Given the description of an element on the screen output the (x, y) to click on. 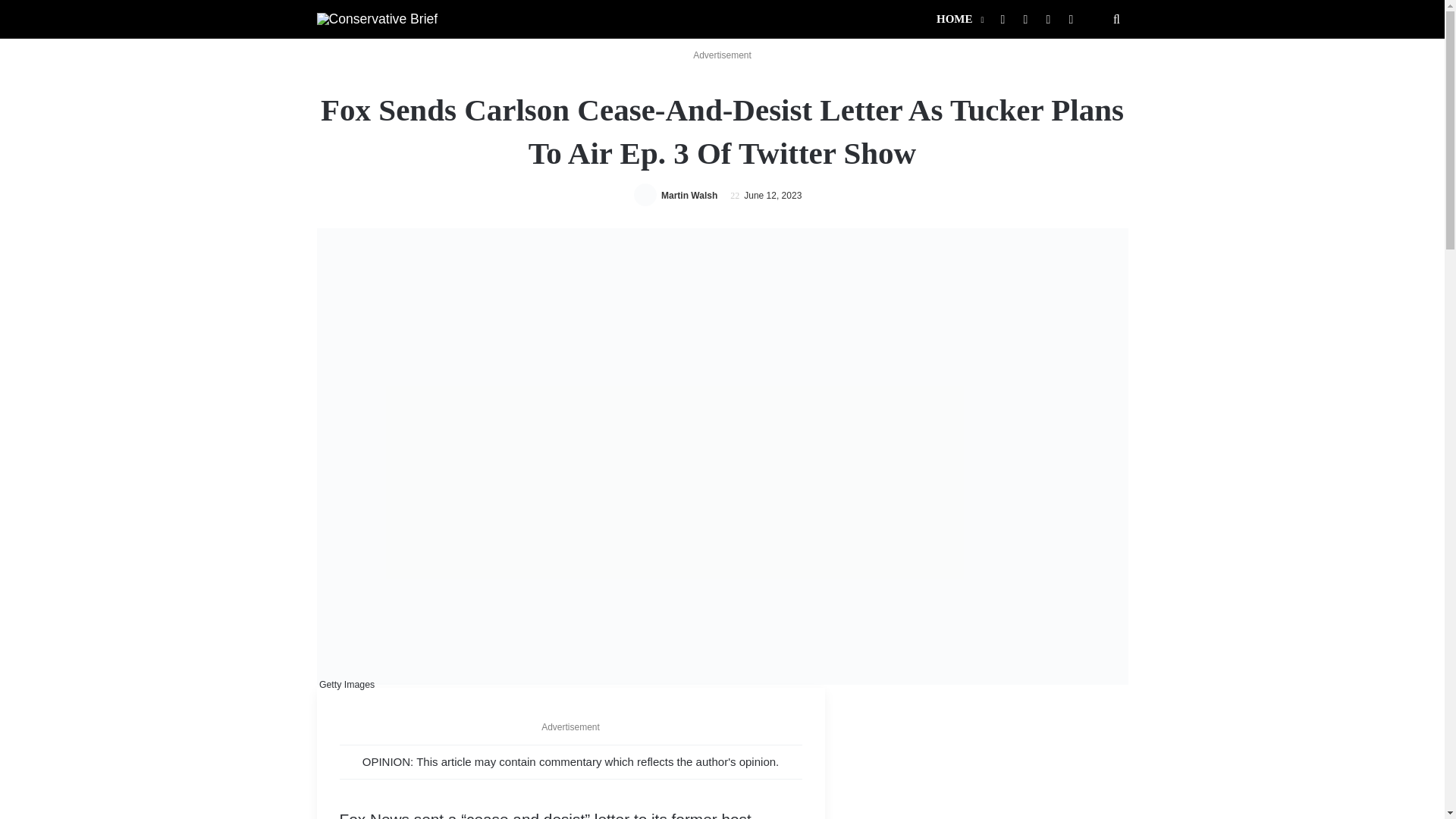
Martin Walsh (689, 195)
Martin Walsh (689, 195)
HOME (958, 19)
Conservative Brief (377, 18)
